Given the description of an element on the screen output the (x, y) to click on. 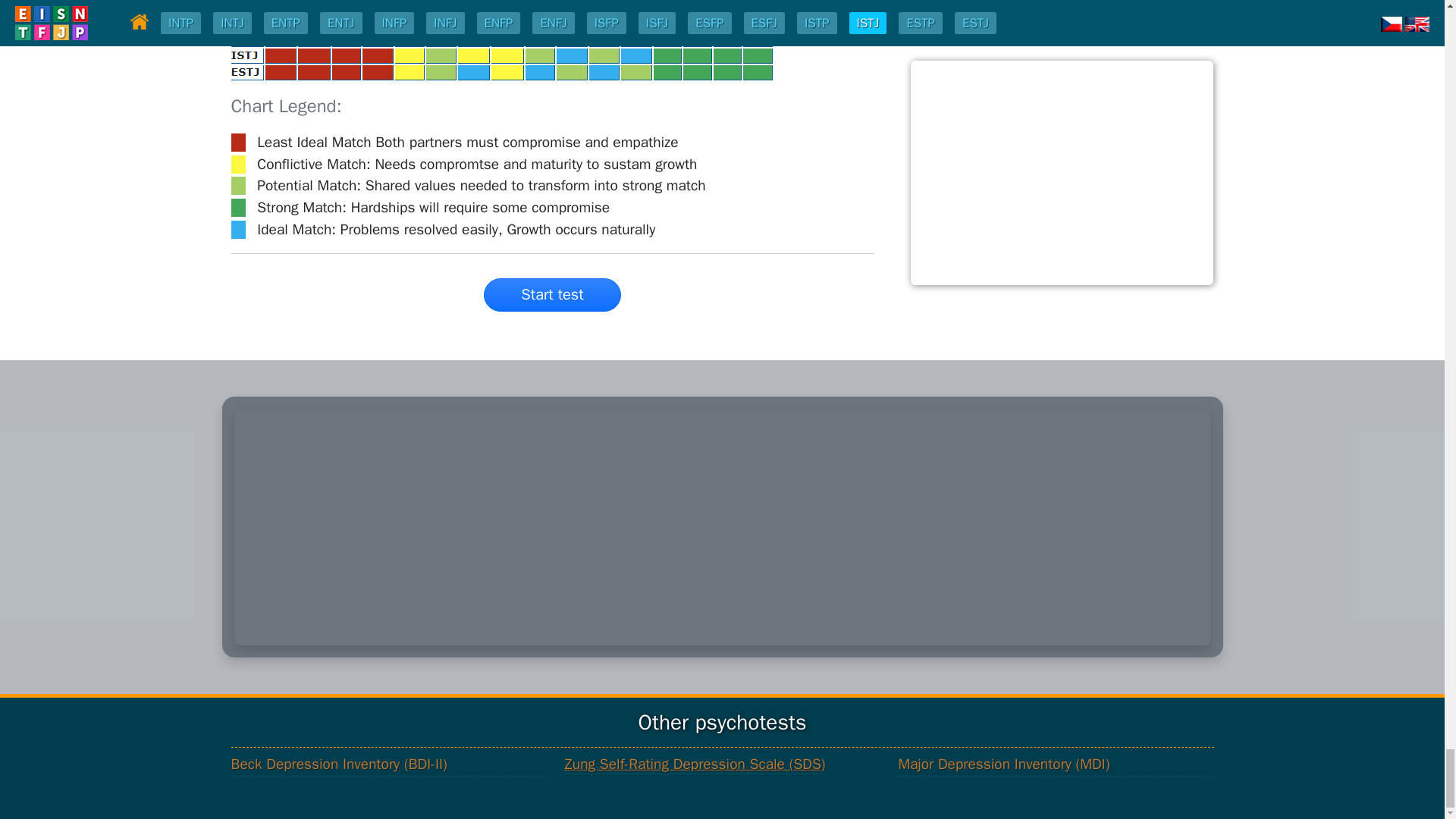
Start test (551, 295)
